Given the description of an element on the screen output the (x, y) to click on. 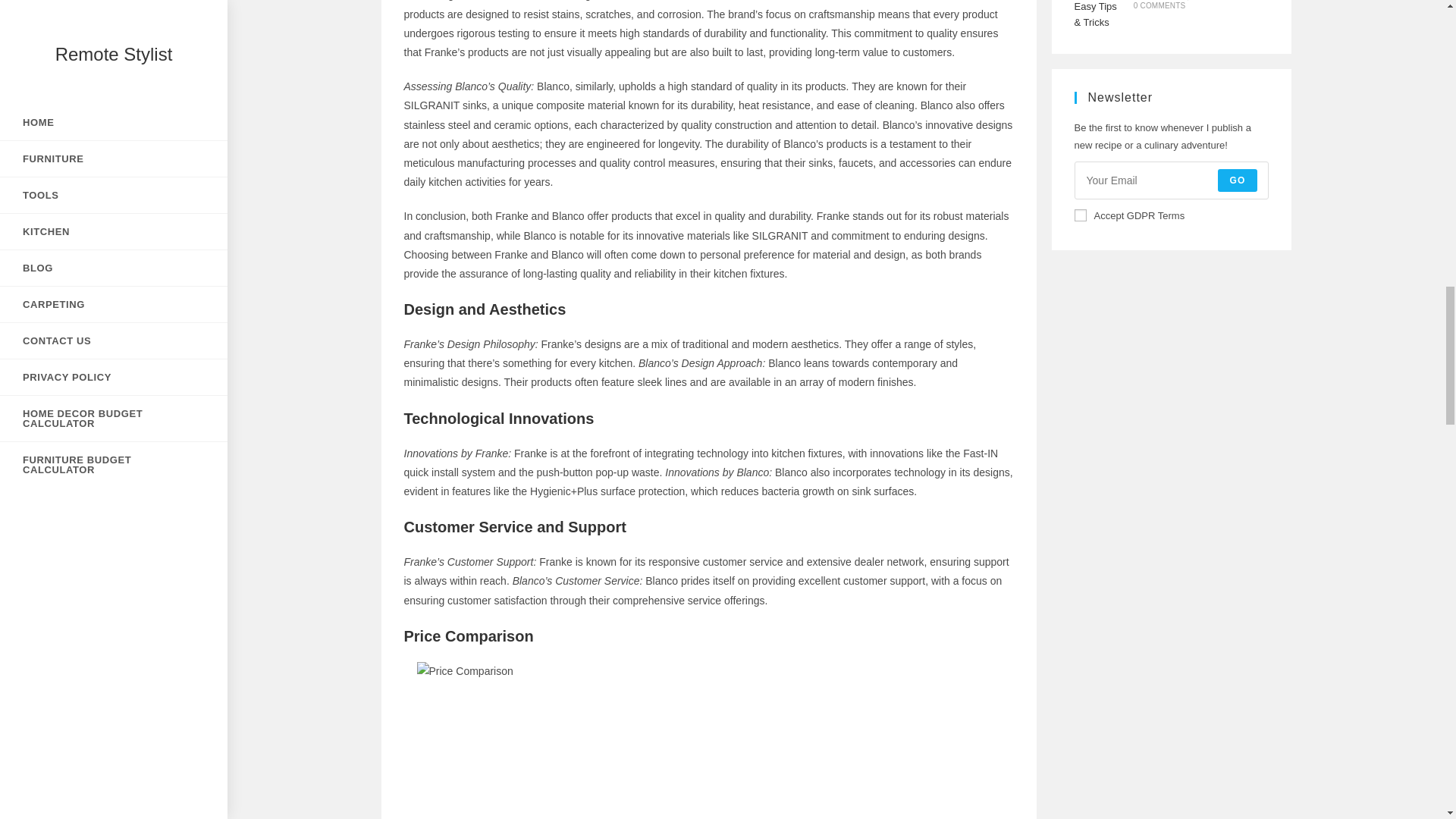
1 (1080, 215)
